Given the description of an element on the screen output the (x, y) to click on. 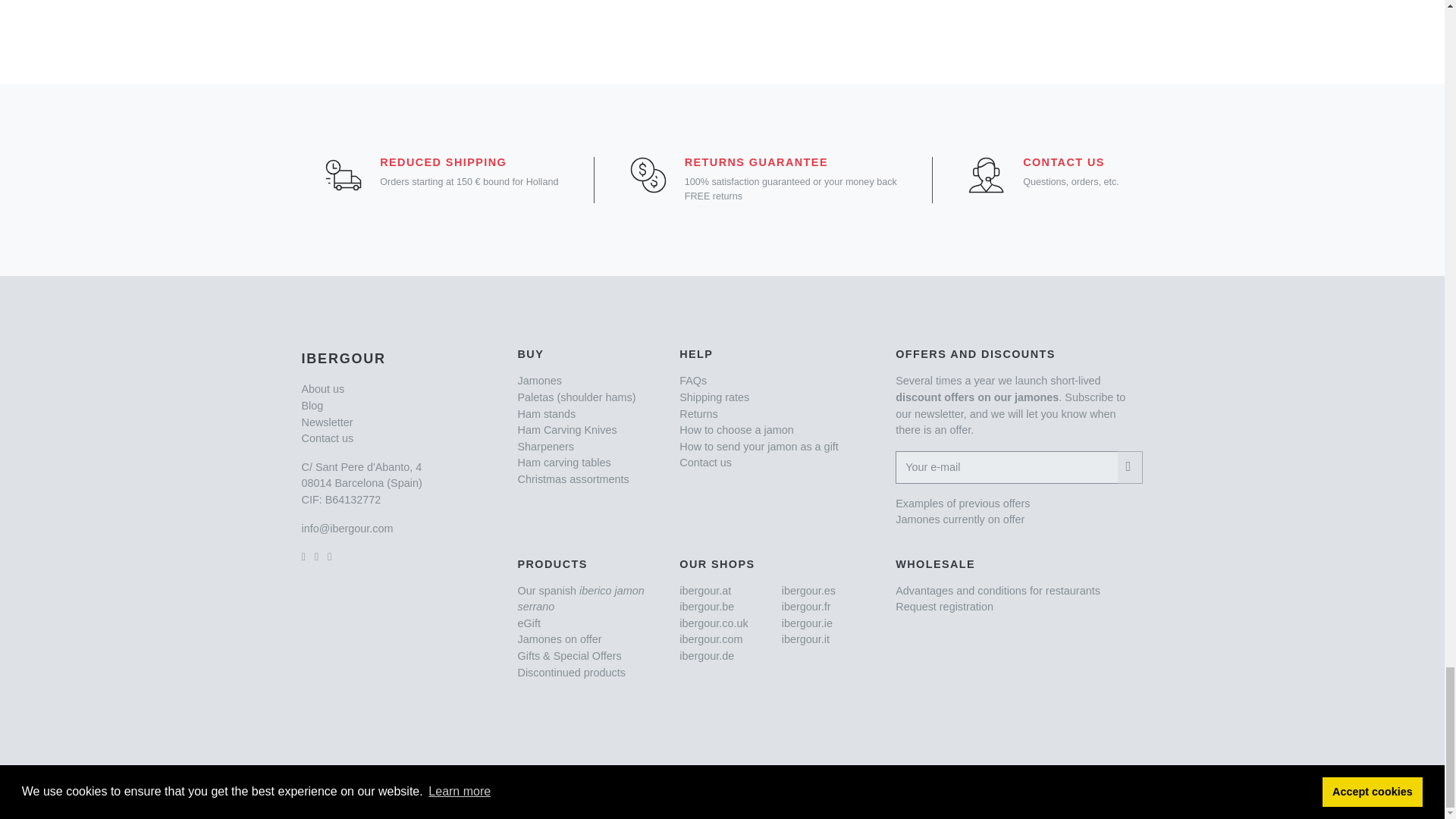
American Express (951, 792)
email (347, 528)
Bank transfer (1103, 792)
MasterCard (856, 792)
Visa (796, 792)
PayPal (1033, 792)
